Given the description of an element on the screen output the (x, y) to click on. 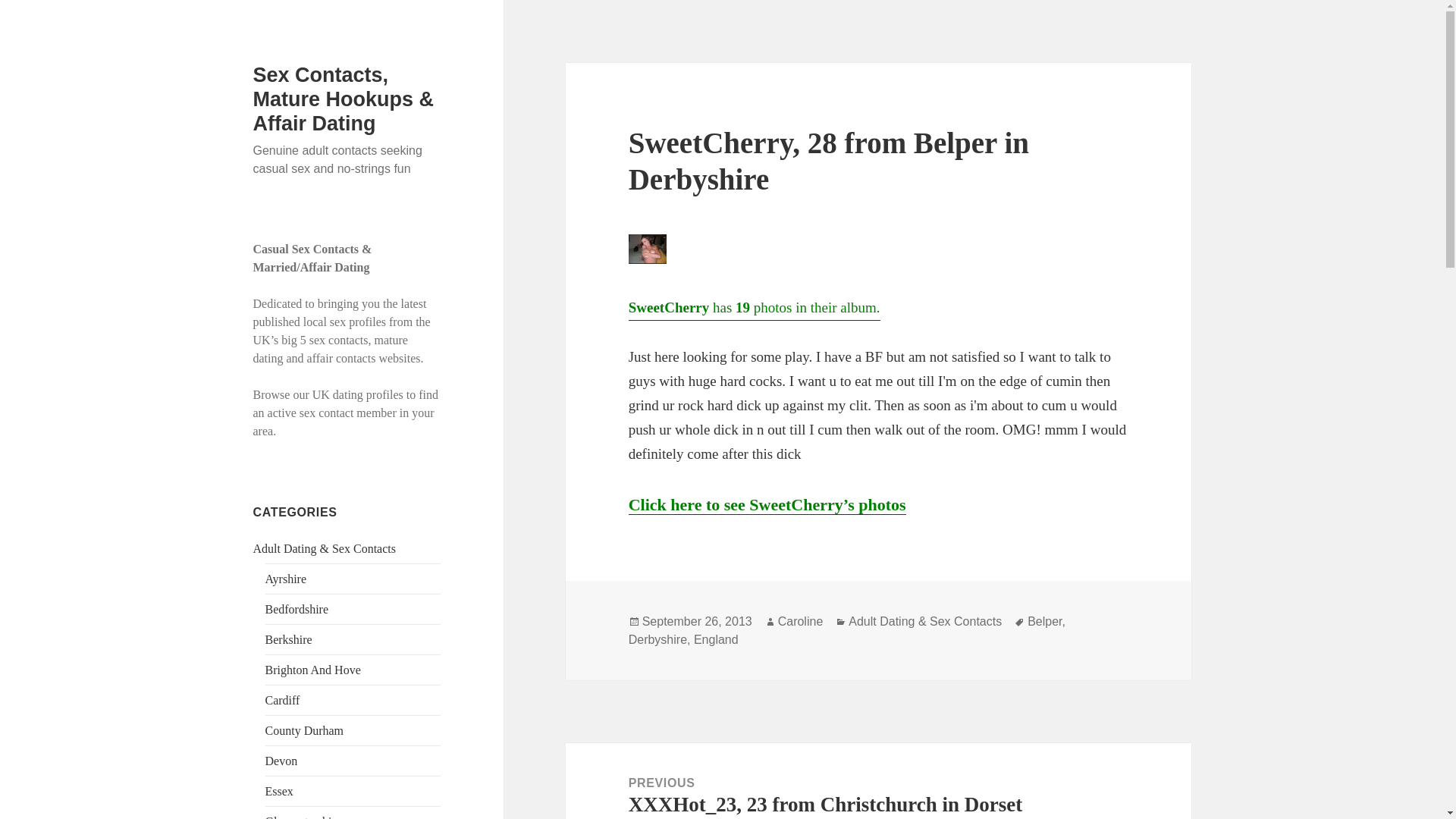
Brighton And Hove (312, 669)
Gloucestershire (302, 816)
Devon (281, 760)
Essex (279, 790)
Cardiff (281, 699)
Ayrshire (285, 578)
Bedfordshire (296, 608)
Berkshire (288, 639)
County Durham (303, 730)
